Given the description of an element on the screen output the (x, y) to click on. 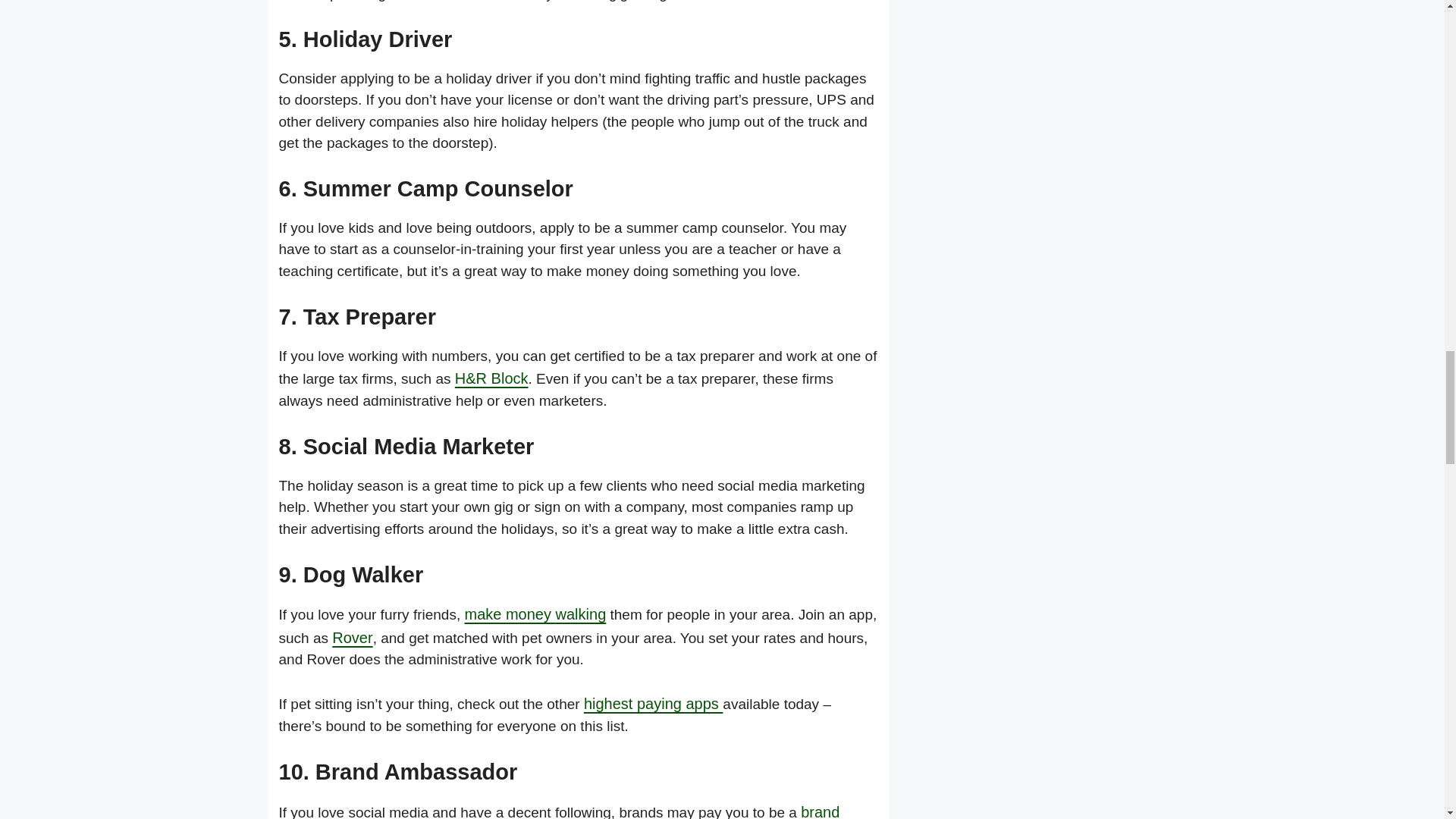
Rover (351, 637)
highest paying apps  (652, 703)
make money walking (534, 614)
brand ambassador (559, 811)
